Given the description of an element on the screen output the (x, y) to click on. 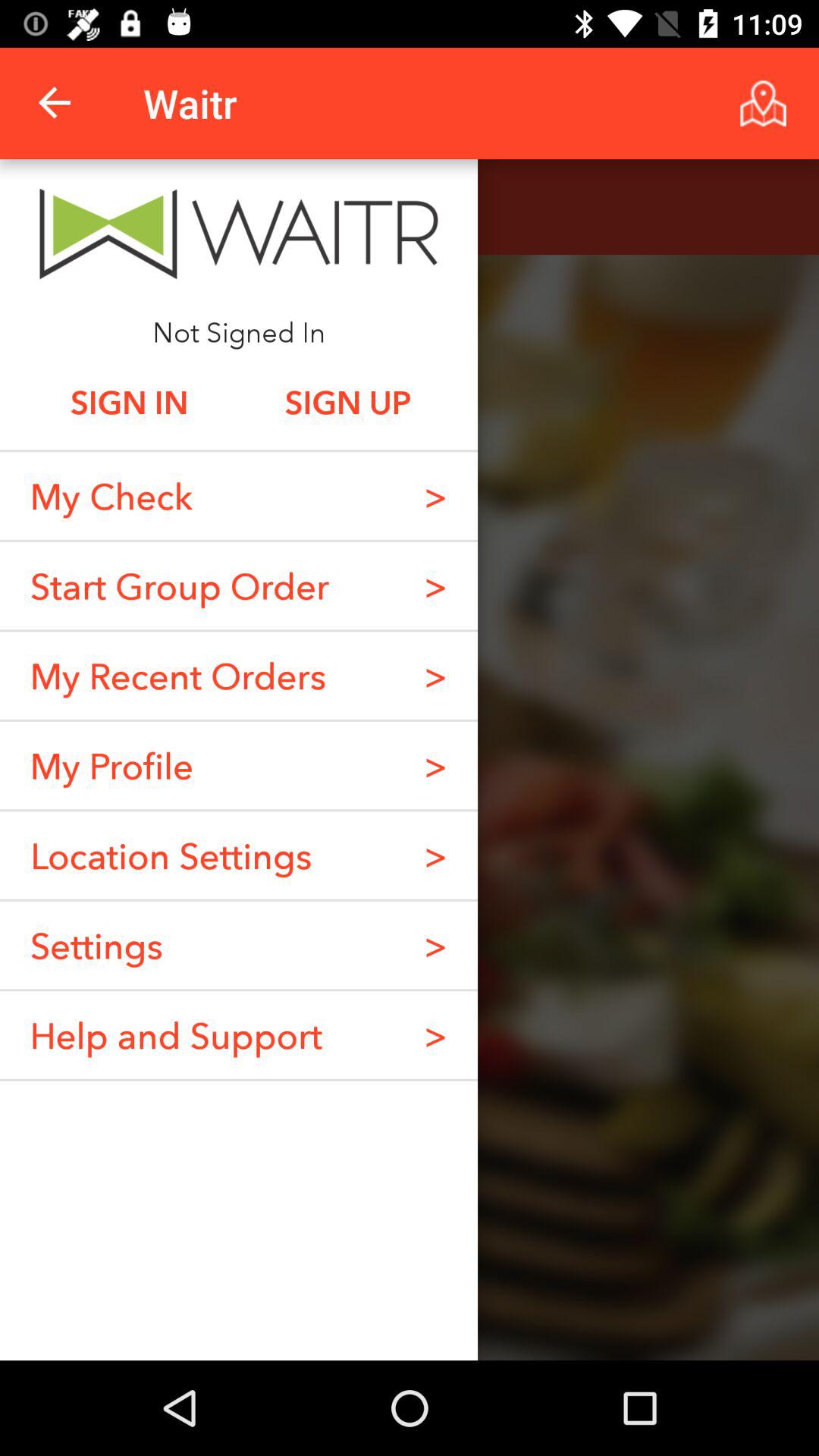
select icon to the left of the waitr (55, 103)
